Given the description of an element on the screen output the (x, y) to click on. 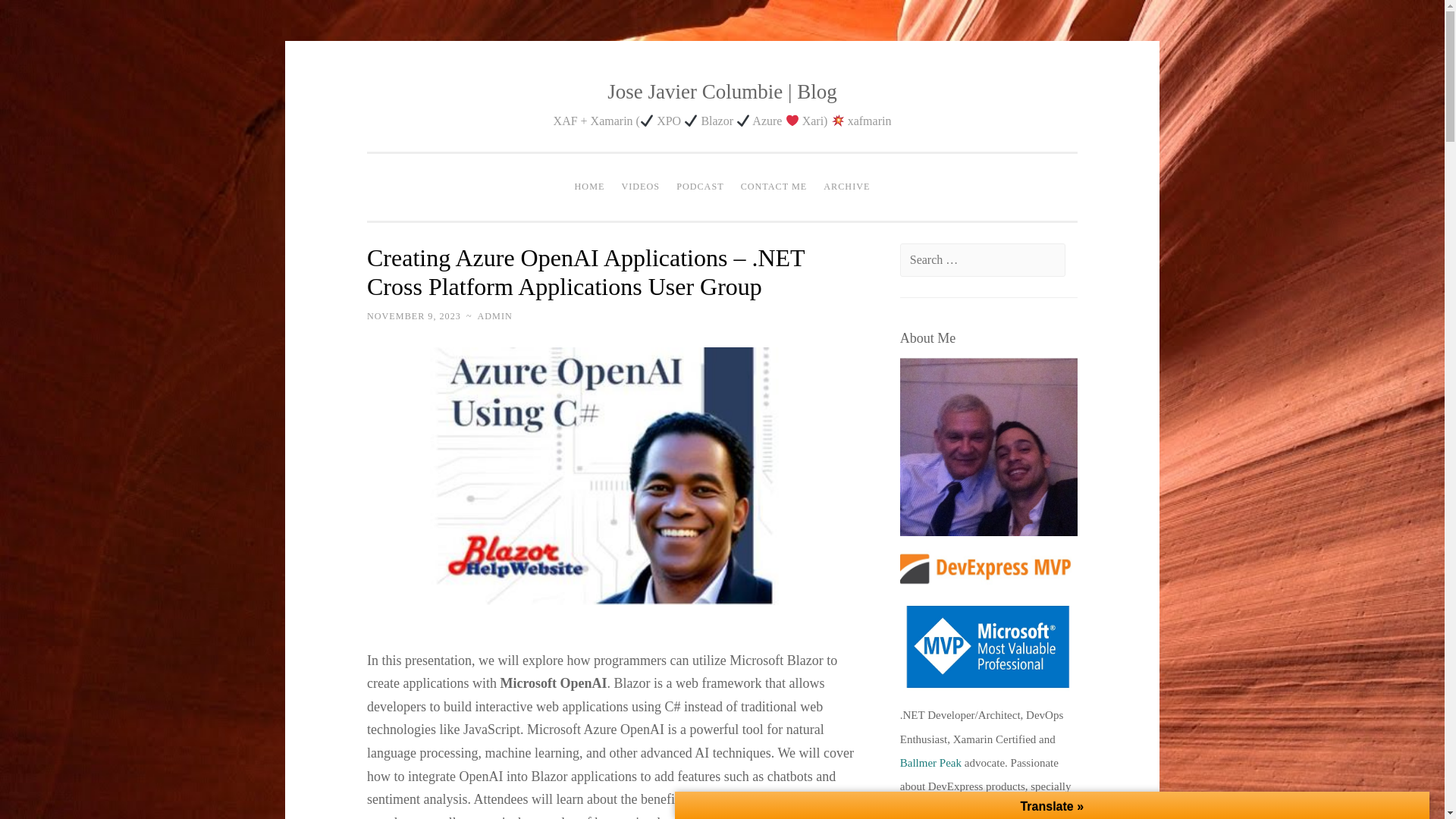
VIDEOS (640, 186)
HOME (589, 186)
NOVEMBER 9, 2023 (413, 316)
Ballmer Peak (929, 762)
ARCHIVE (846, 186)
PODCAST (699, 186)
CONTACT ME (773, 186)
ADMIN (494, 316)
Search (39, 16)
